Given the description of an element on the screen output the (x, y) to click on. 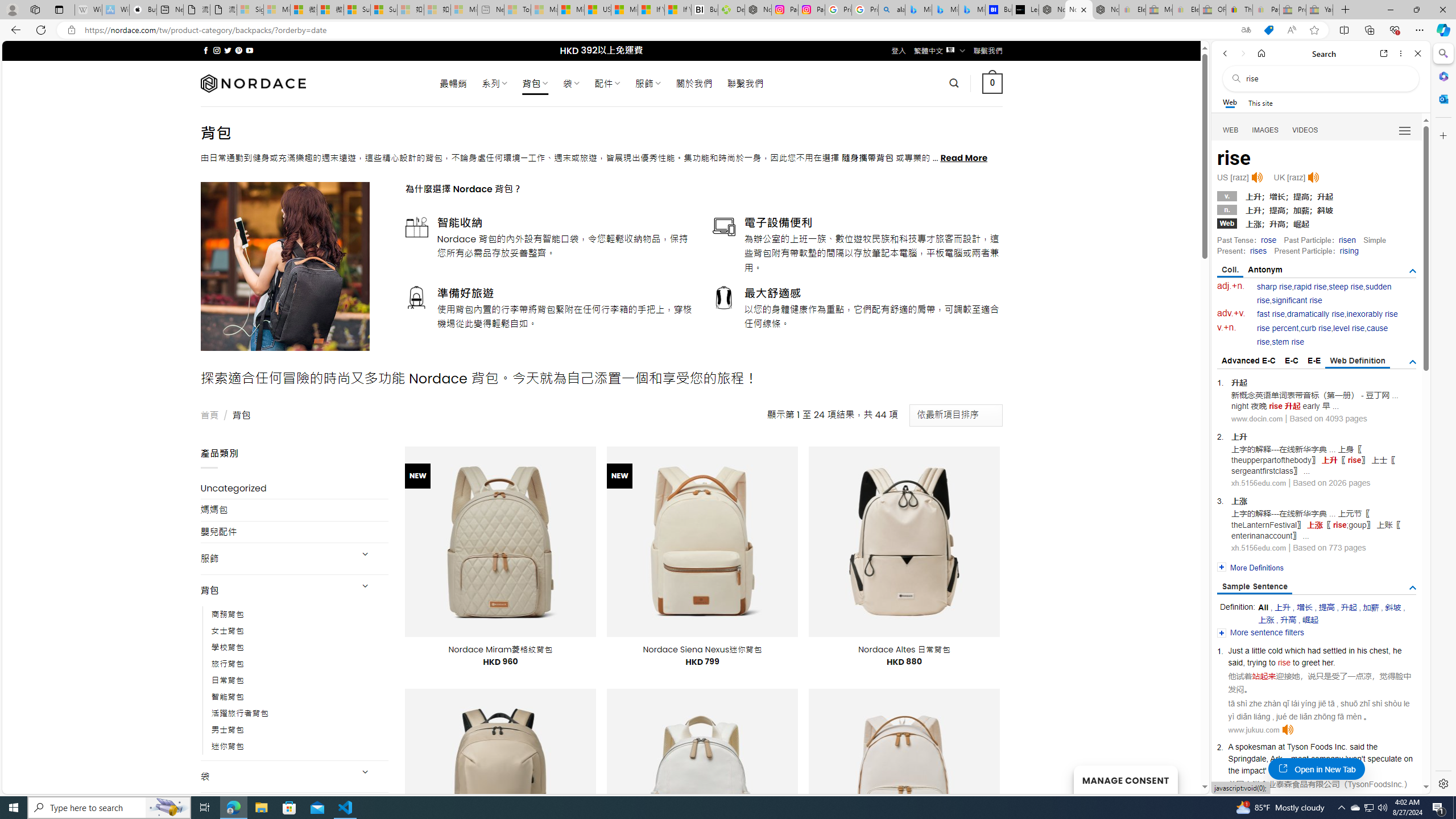
US Heat Deaths Soared To Record High Last Year (597, 9)
greet (1310, 662)
curb rise (1315, 328)
AutomationID: tgsb (1412, 270)
E-E (1314, 360)
